Given the description of an element on the screen output the (x, y) to click on. 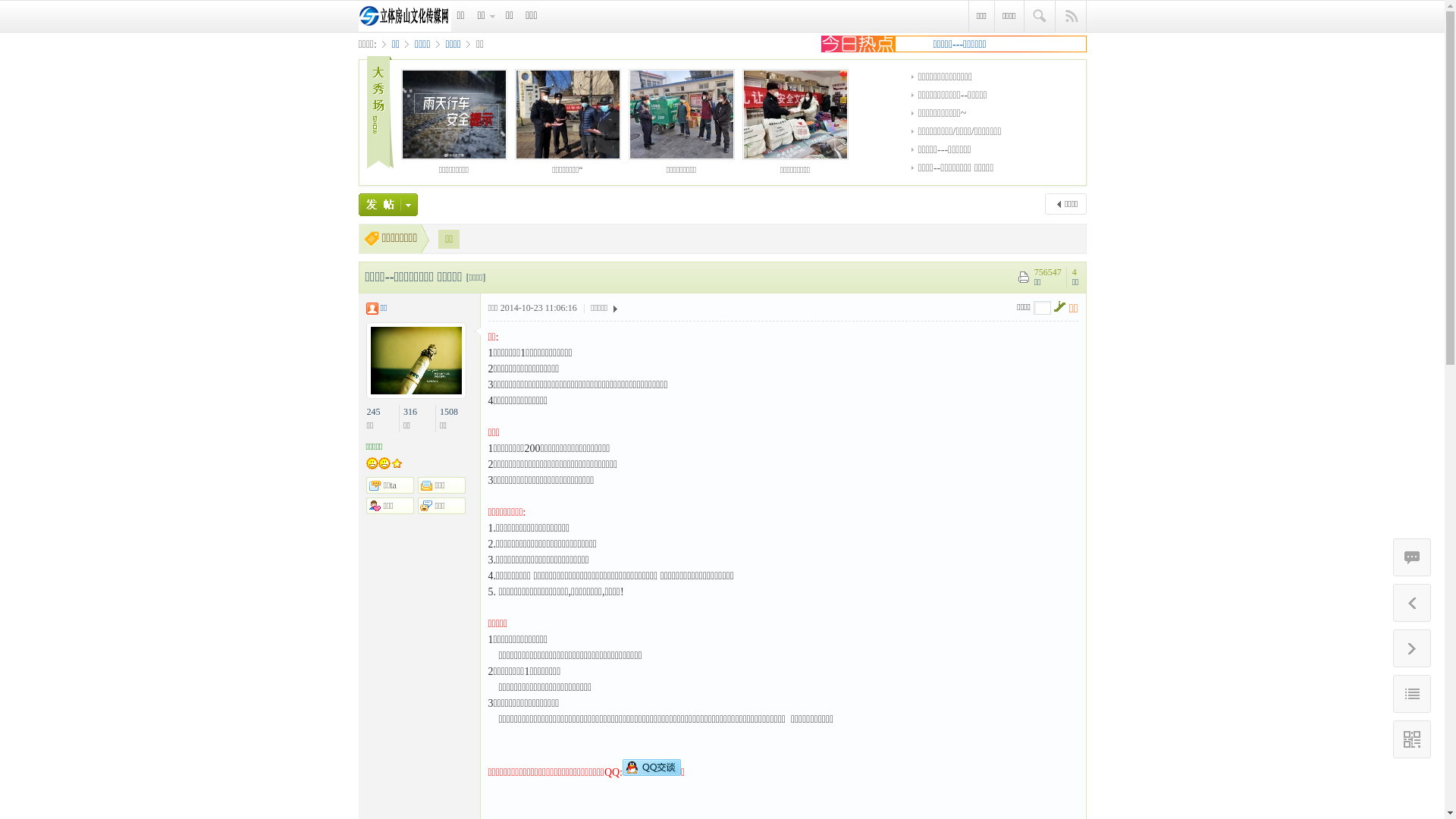
316 Element type: text (410, 411)
1508 Element type: text (448, 411)
245 Element type: text (373, 411)
